Given the description of an element on the screen output the (x, y) to click on. 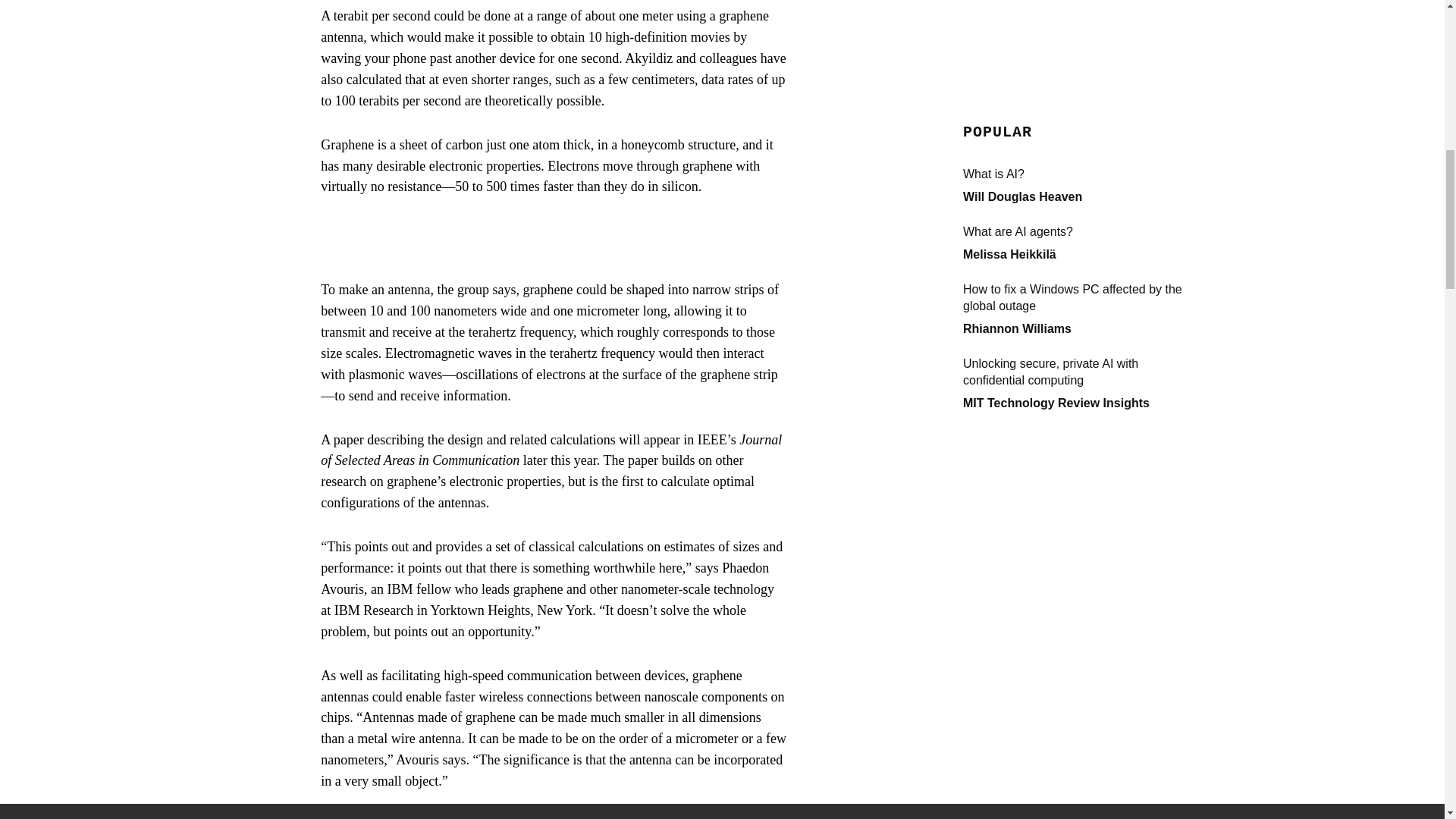
MIT Technology Review Insights (1056, 118)
How to fix a Windows PC affected by the global outage (1075, 15)
Unlocking secure, private AI with confidential computing (1075, 87)
Rhiannon Williams (1016, 43)
